Given the description of an element on the screen output the (x, y) to click on. 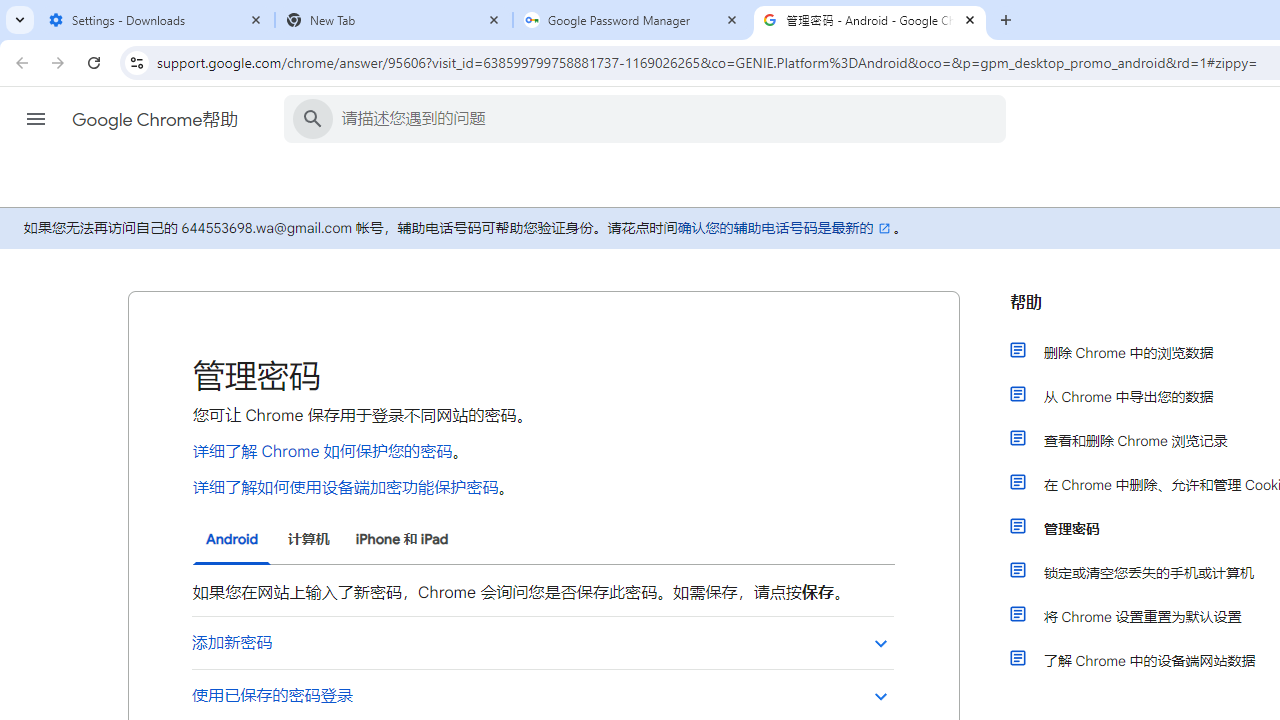
Google Password Manager (632, 20)
Android (232, 540)
